Given the description of an element on the screen output the (x, y) to click on. 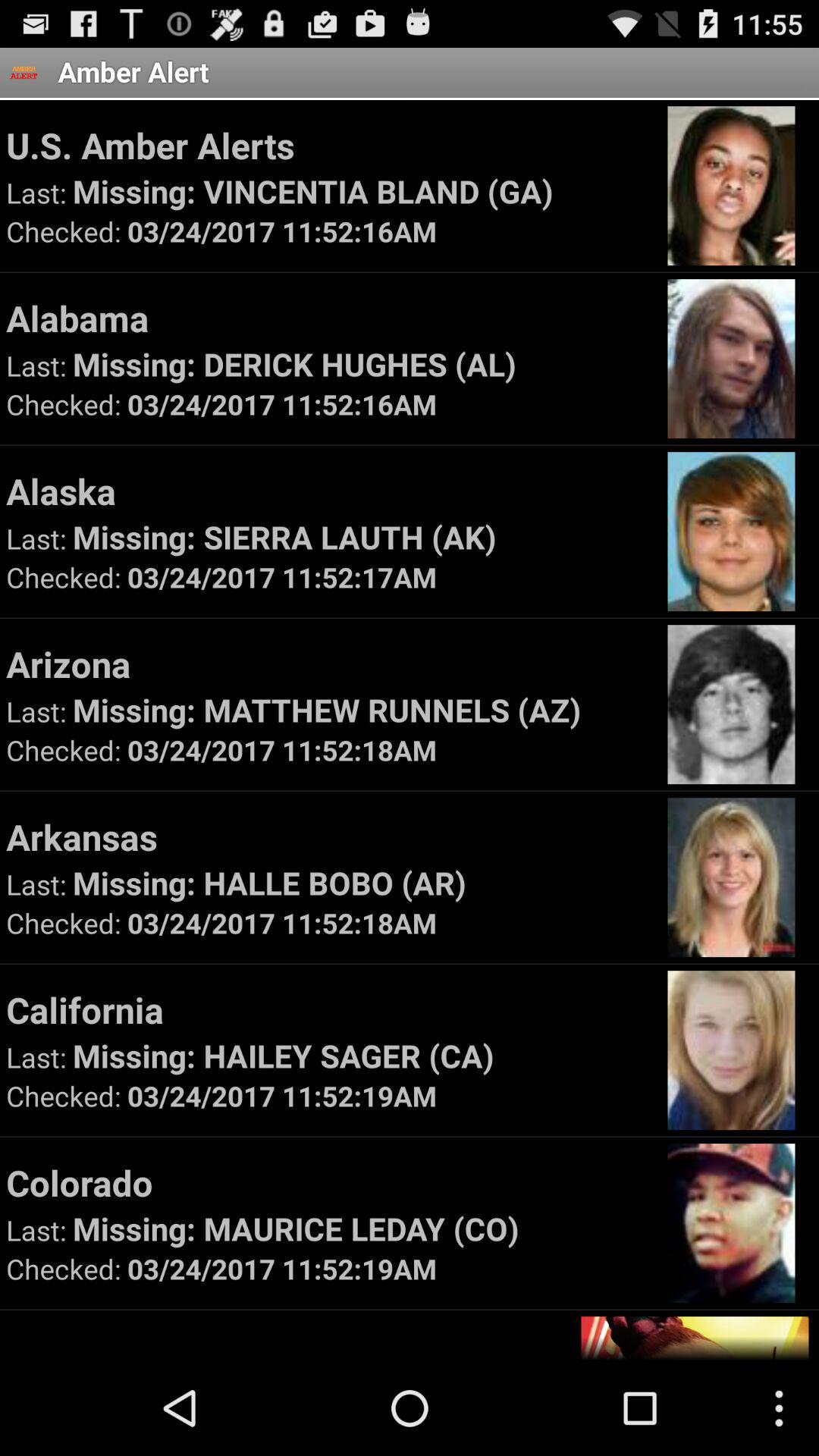
select icon above the missing maurice leday app (329, 1182)
